Given the description of an element on the screen output the (x, y) to click on. 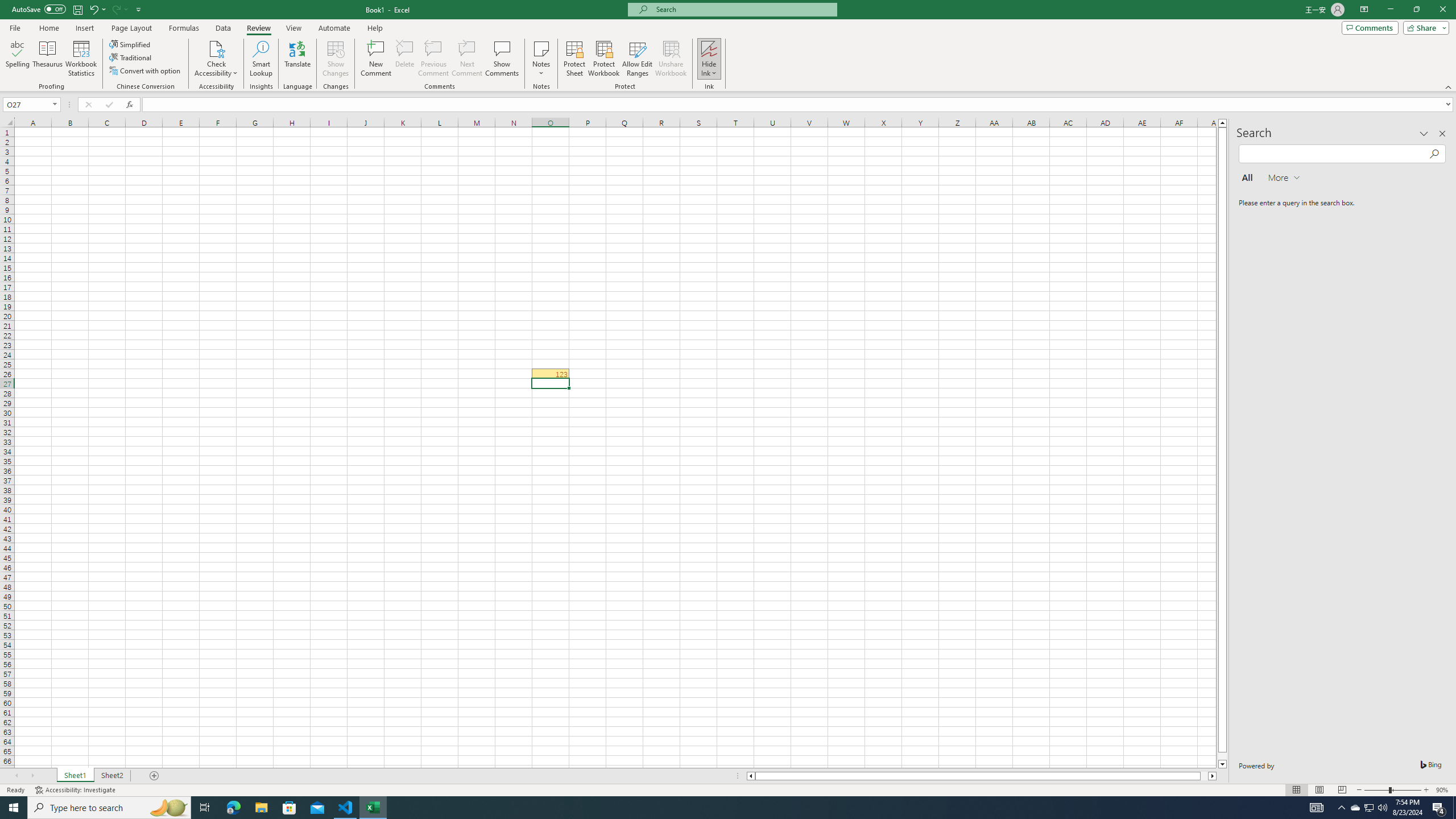
Unshare Workbook (670, 58)
Next Comment (466, 58)
Notes (541, 58)
New Comment (376, 58)
Spelling... (17, 58)
Convert with option (145, 69)
Check Accessibility (215, 58)
